Given the description of an element on the screen output the (x, y) to click on. 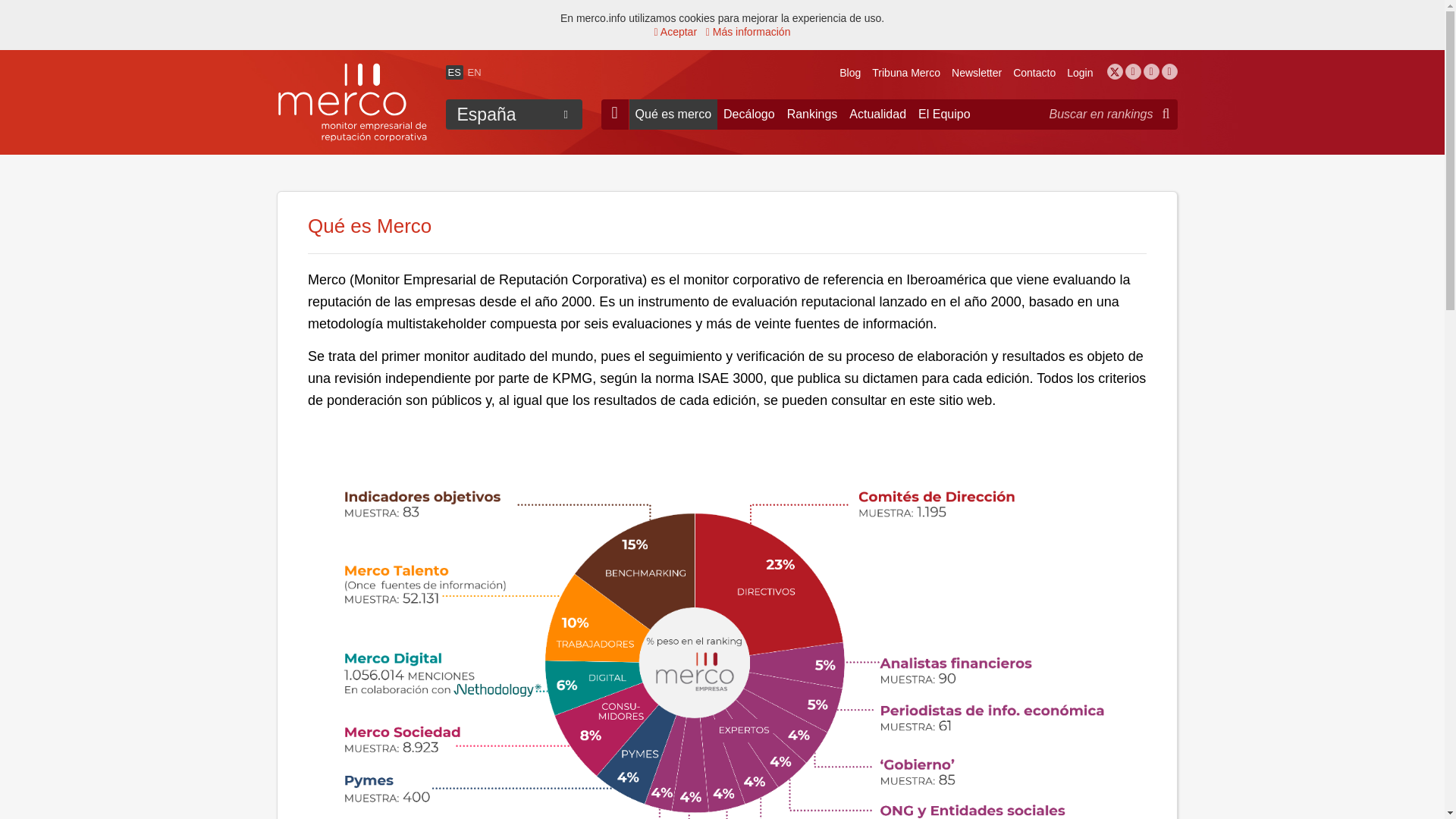
Login (1080, 72)
Actualidad (877, 114)
merco en Facebook (1133, 71)
merco en LinkedIn (1150, 71)
Blog (850, 72)
Blog de Merco (850, 72)
English (473, 71)
Tribuna Merco (906, 72)
Tribuna Merco (906, 72)
Canal Youtube de merco (1169, 71)
EN (473, 71)
Login (1080, 72)
Aceptar (675, 31)
Contacto (1034, 72)
merco en X (1114, 71)
